Given the description of an element on the screen output the (x, y) to click on. 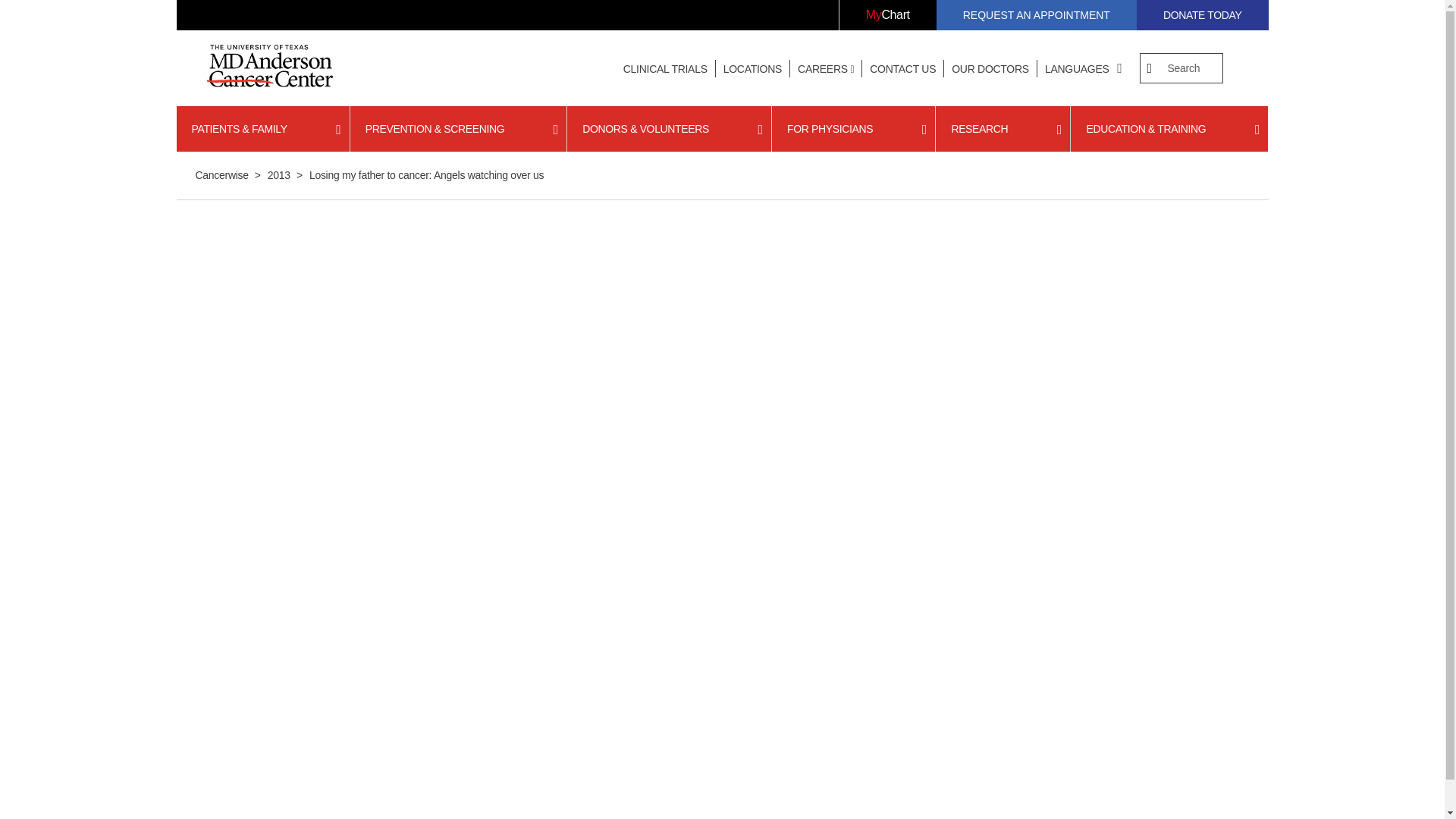
LOCATIONS (752, 69)
CLINICAL TRIALS (664, 69)
MyChart (888, 15)
 Opens a new window (888, 15)
OUR DOCTORS (989, 69)
CAREERS (825, 69)
CONTACT US (902, 69)
